Given the description of an element on the screen output the (x, y) to click on. 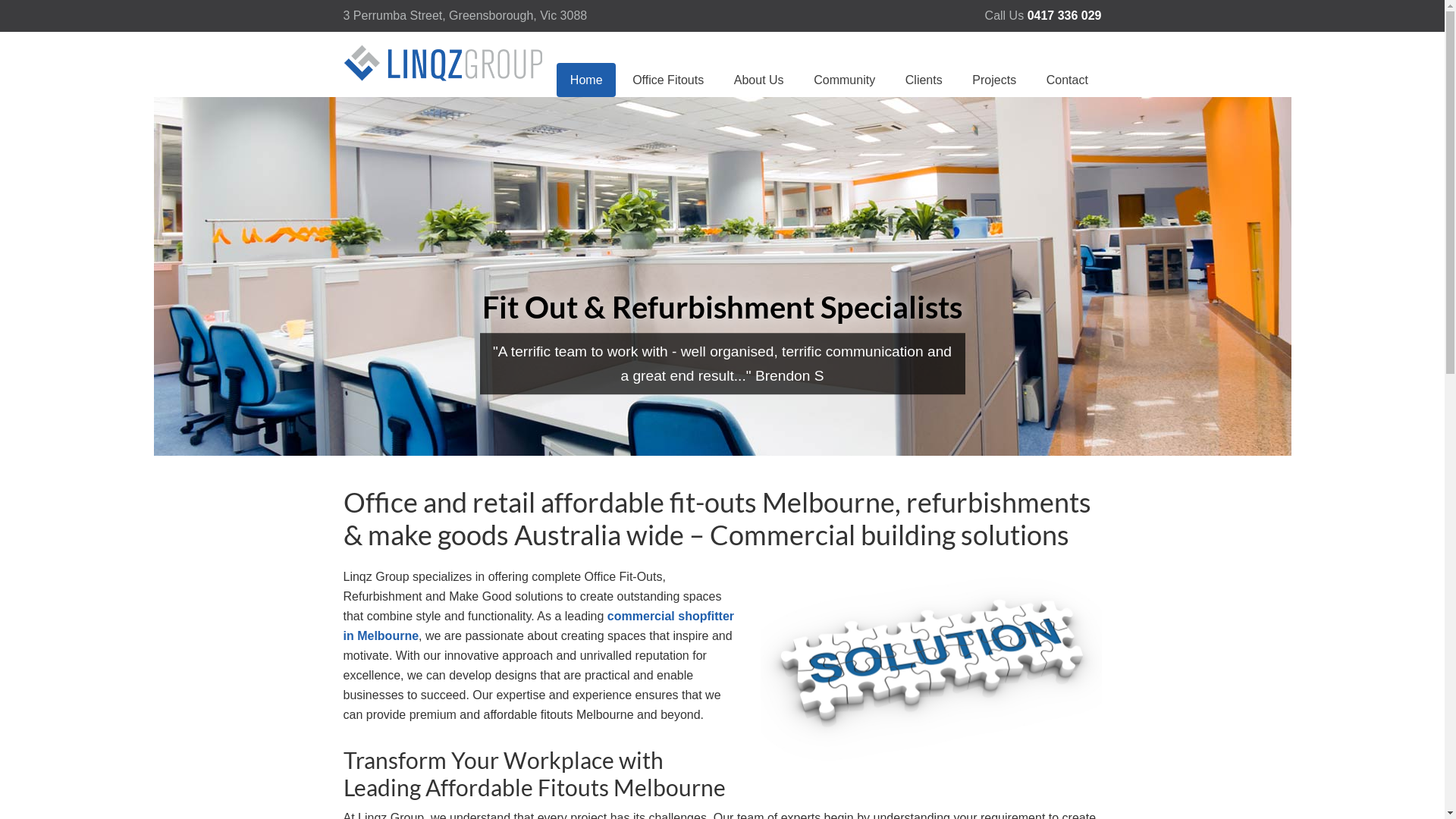
0417 336 029 Element type: text (1064, 15)
Projects Element type: text (994, 79)
Linqz Group Element type: hover (444, 77)
3 Perrumba Street, Greensborough, Vic 3088 Element type: text (464, 15)
Home Element type: text (585, 79)
Community Element type: text (844, 79)
About Us Element type: text (758, 79)
Office Fitouts Element type: text (668, 79)
Clients Element type: text (923, 79)
commercial shopfitter in Melbourne Element type: text (538, 625)
Contact Element type: text (1066, 79)
